Given the description of an element on the screen output the (x, y) to click on. 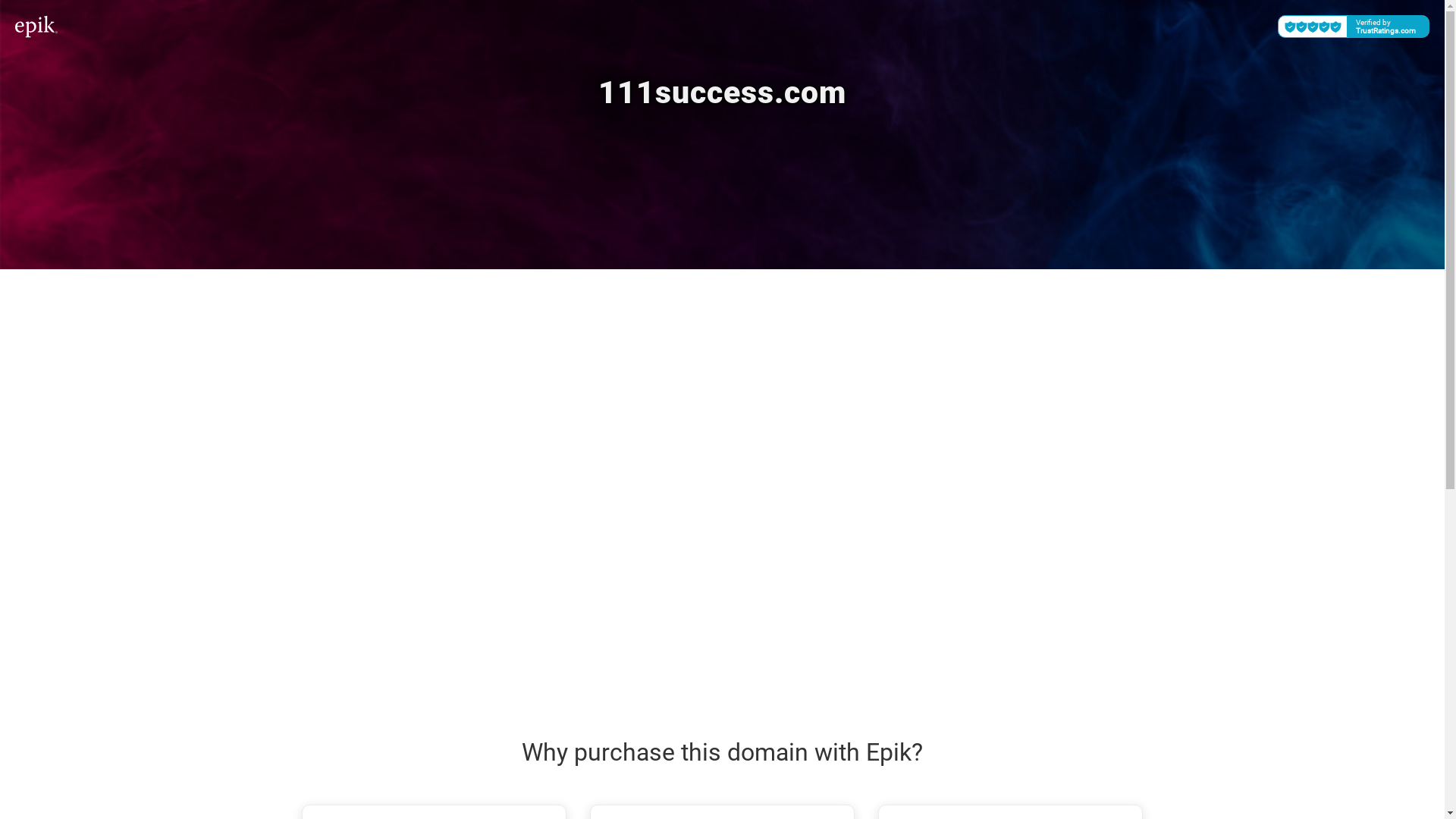
Verified by TrustRatings.com Element type: hover (1353, 26)
